Given the description of an element on the screen output the (x, y) to click on. 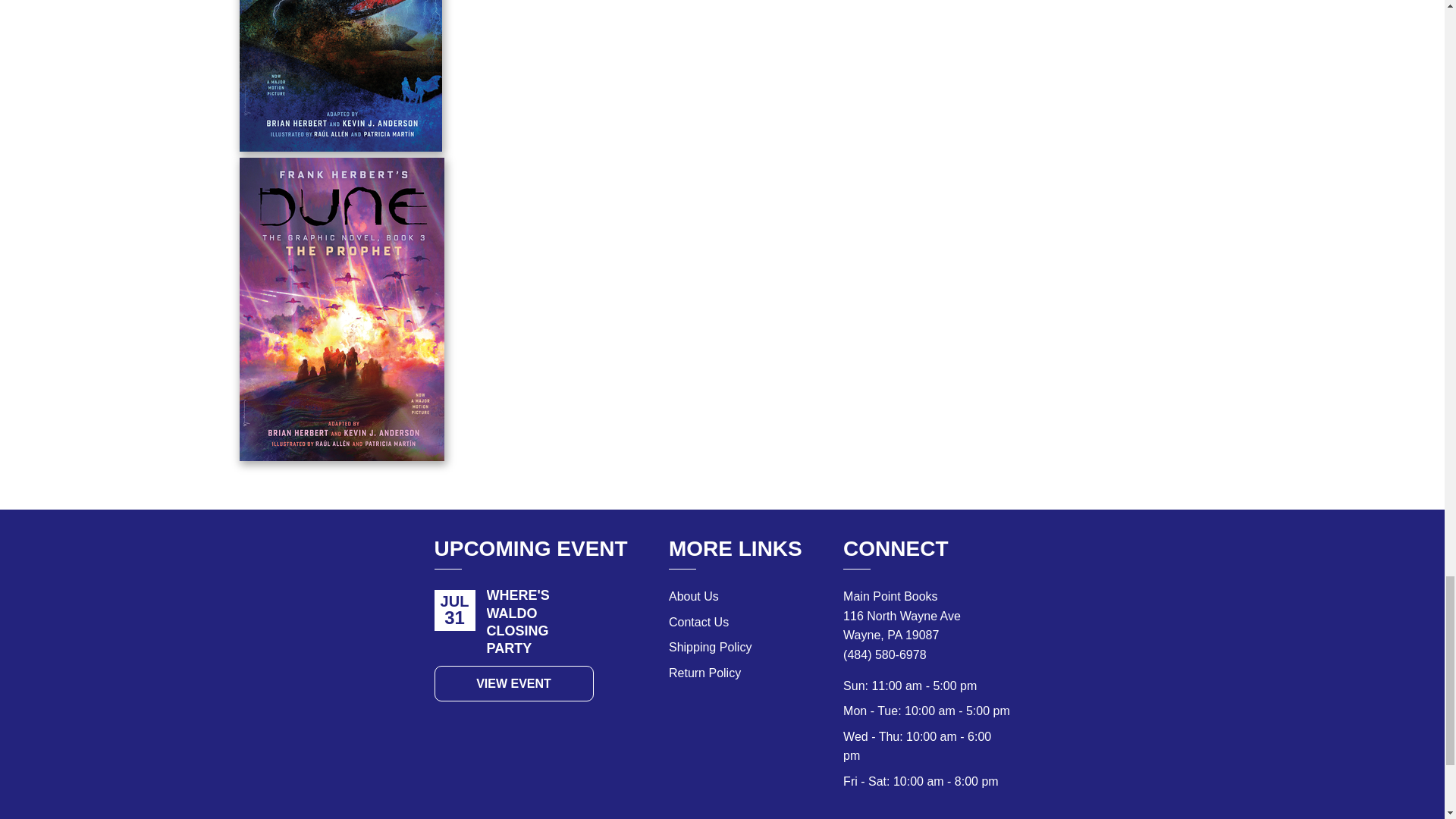
VIEW EVENT (512, 683)
About Us (693, 595)
Return Policy (704, 672)
Contact Us (698, 621)
Shipping Policy (709, 646)
